Given the description of an element on the screen output the (x, y) to click on. 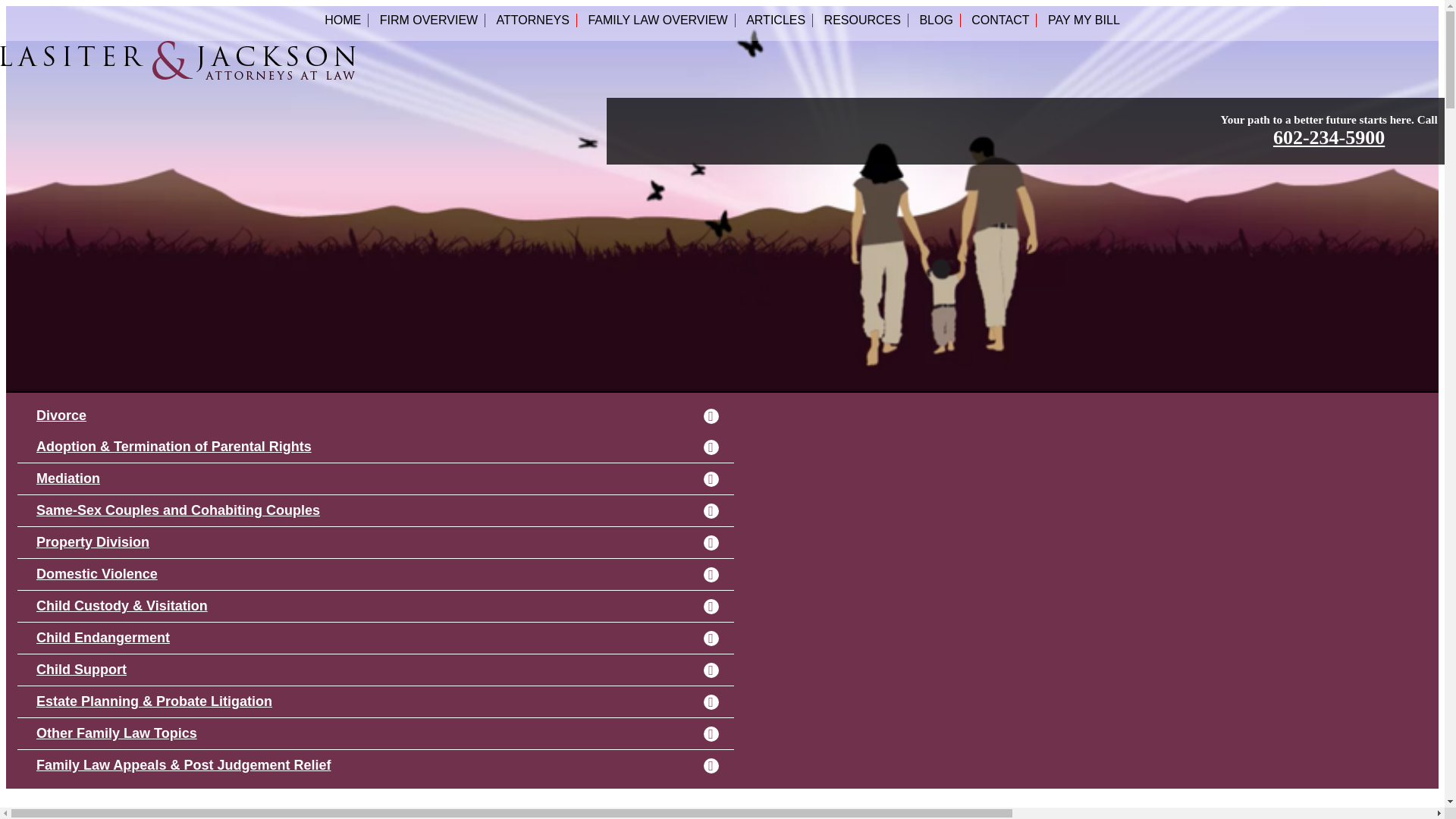
Child Endangerment (375, 637)
BLOG (935, 20)
Domestic Violence (375, 573)
HOME (342, 20)
Divorce (375, 415)
Property Division (375, 541)
CONTACT (999, 20)
PAY MY BILL (1083, 20)
Child Support (375, 669)
RESOURCES (862, 20)
Same-Sex Couples and Cohabiting Couples (375, 510)
ARTICLES (775, 20)
Mediation (375, 478)
FAMILY LAW OVERVIEW (657, 20)
Other Family Law Topics (375, 733)
